Given the description of an element on the screen output the (x, y) to click on. 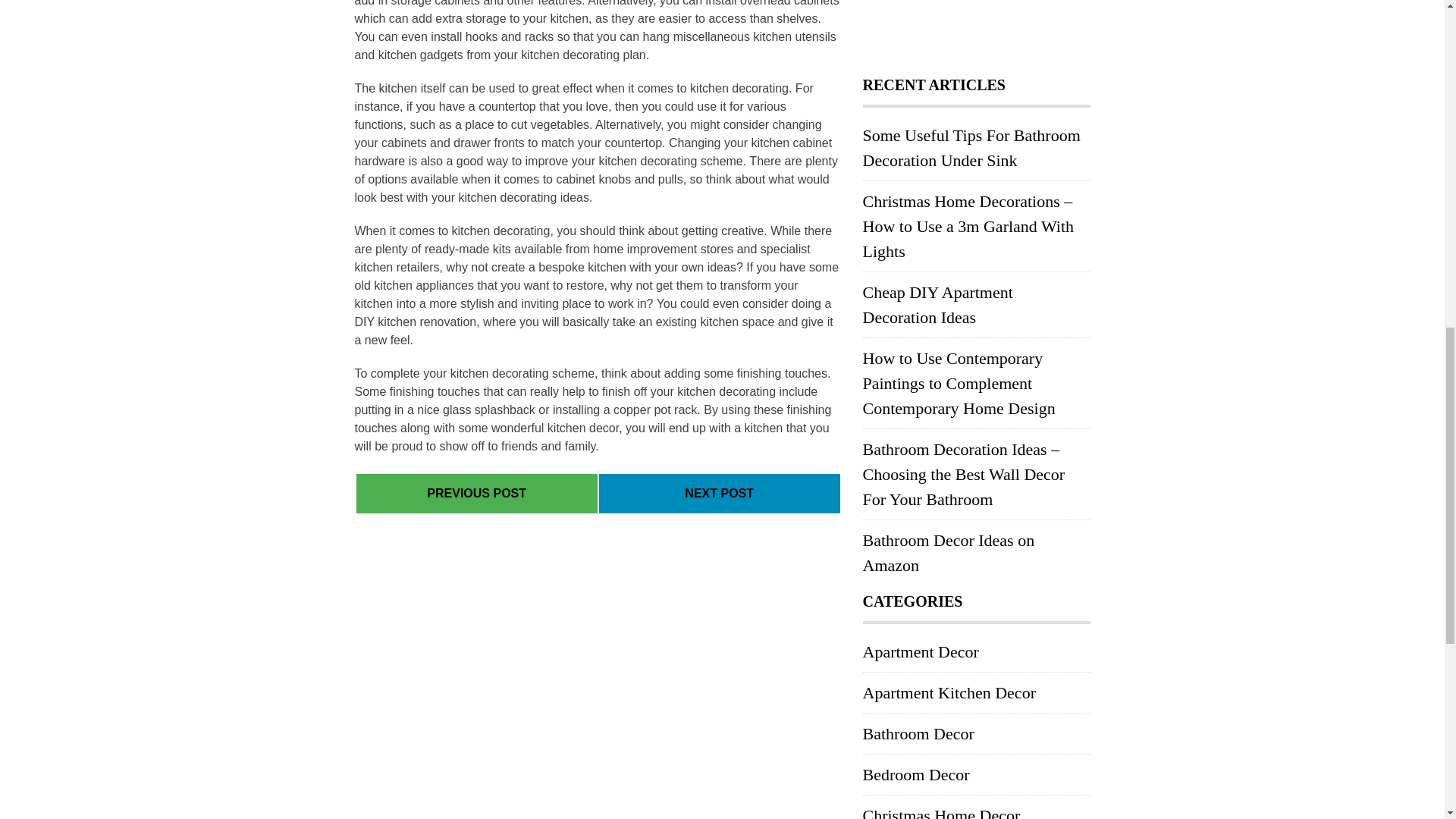
Advertisement (976, 30)
Christmas Home Decor (941, 812)
NEXT POST (718, 492)
Trendy Rustic Decor For 2021 (718, 492)
Bedroom Decor (916, 773)
Some Useful Tips For Bathroom Decoration Under Sink (971, 147)
NEXT POST (719, 493)
Planning a 2021 Contemporary Wedding (476, 492)
Bathroom Decor Ideas on Amazon (949, 552)
Bathroom Decor (918, 732)
